Given the description of an element on the screen output the (x, y) to click on. 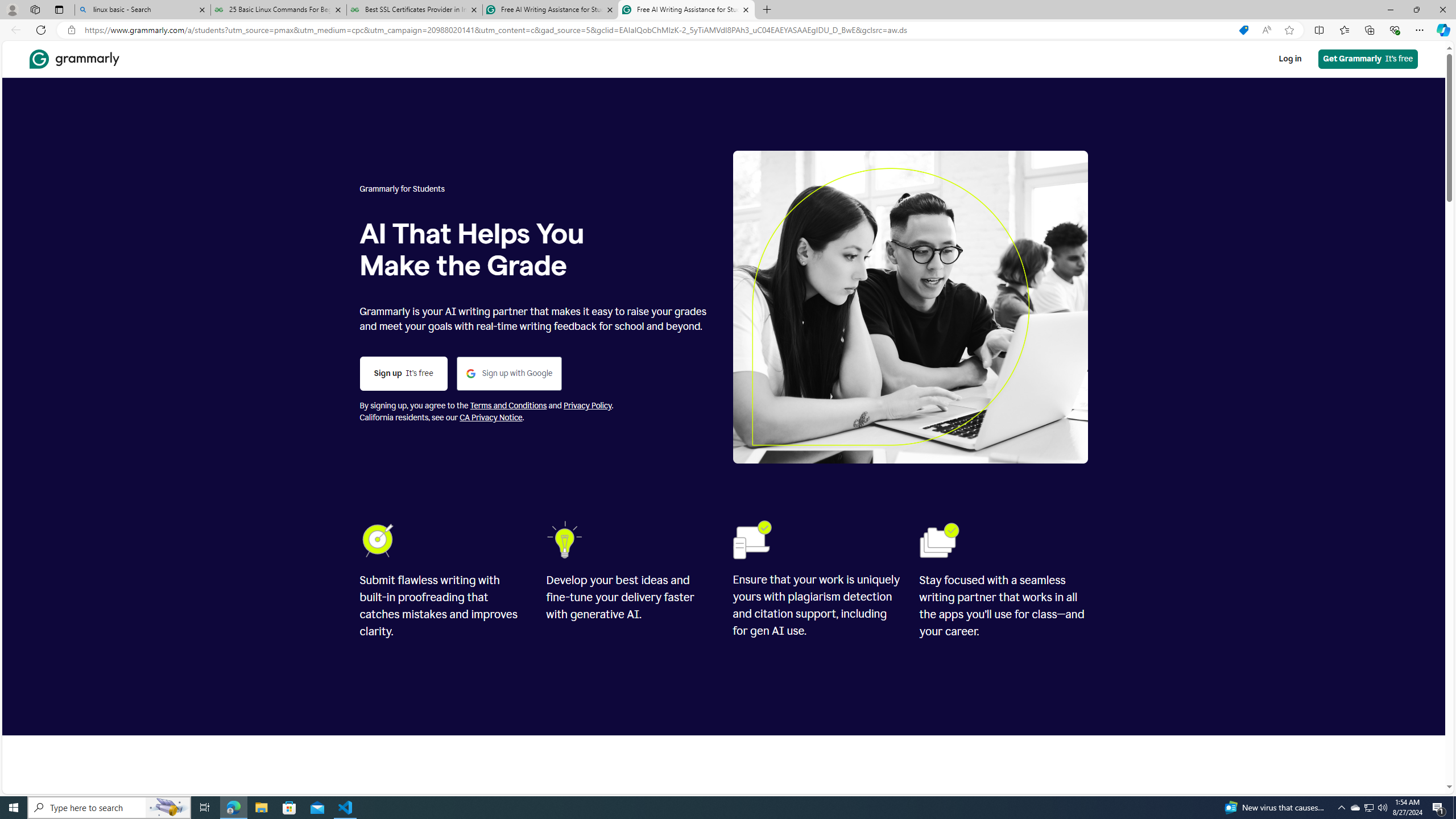
25 Basic Linux Commands For Beginners - GeeksforGeeks (277, 9)
Best SSL Certificates Provider in India - GeeksforGeeks (414, 9)
Terms and Conditions (508, 406)
Privacy Policy (587, 406)
Folders (938, 540)
